Given the description of an element on the screen output the (x, y) to click on. 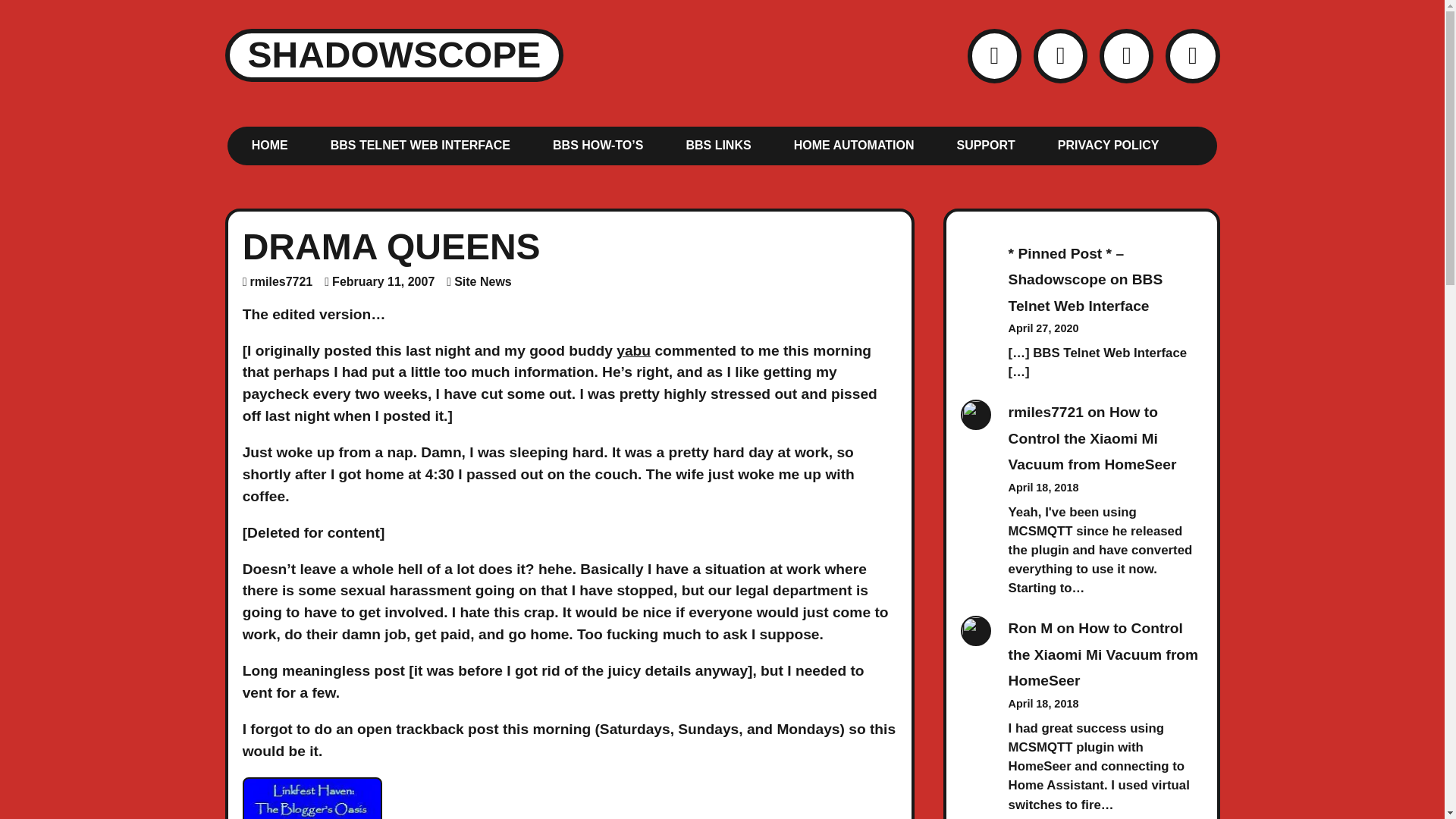
BBS TELNET WEB INTERFACE (420, 144)
February 11, 2007 (382, 281)
HOME (269, 144)
HOME AUTOMATION (853, 144)
Site News (483, 281)
Facebook (1060, 55)
rmiles7721 (281, 281)
SHADOWSCOPE (393, 55)
BBS LINKS (718, 144)
yabu (632, 350)
YouTube (1126, 55)
Twitter (995, 55)
SUPPORT (985, 144)
on (232, 131)
Shadowscope (393, 55)
